Given the description of an element on the screen output the (x, y) to click on. 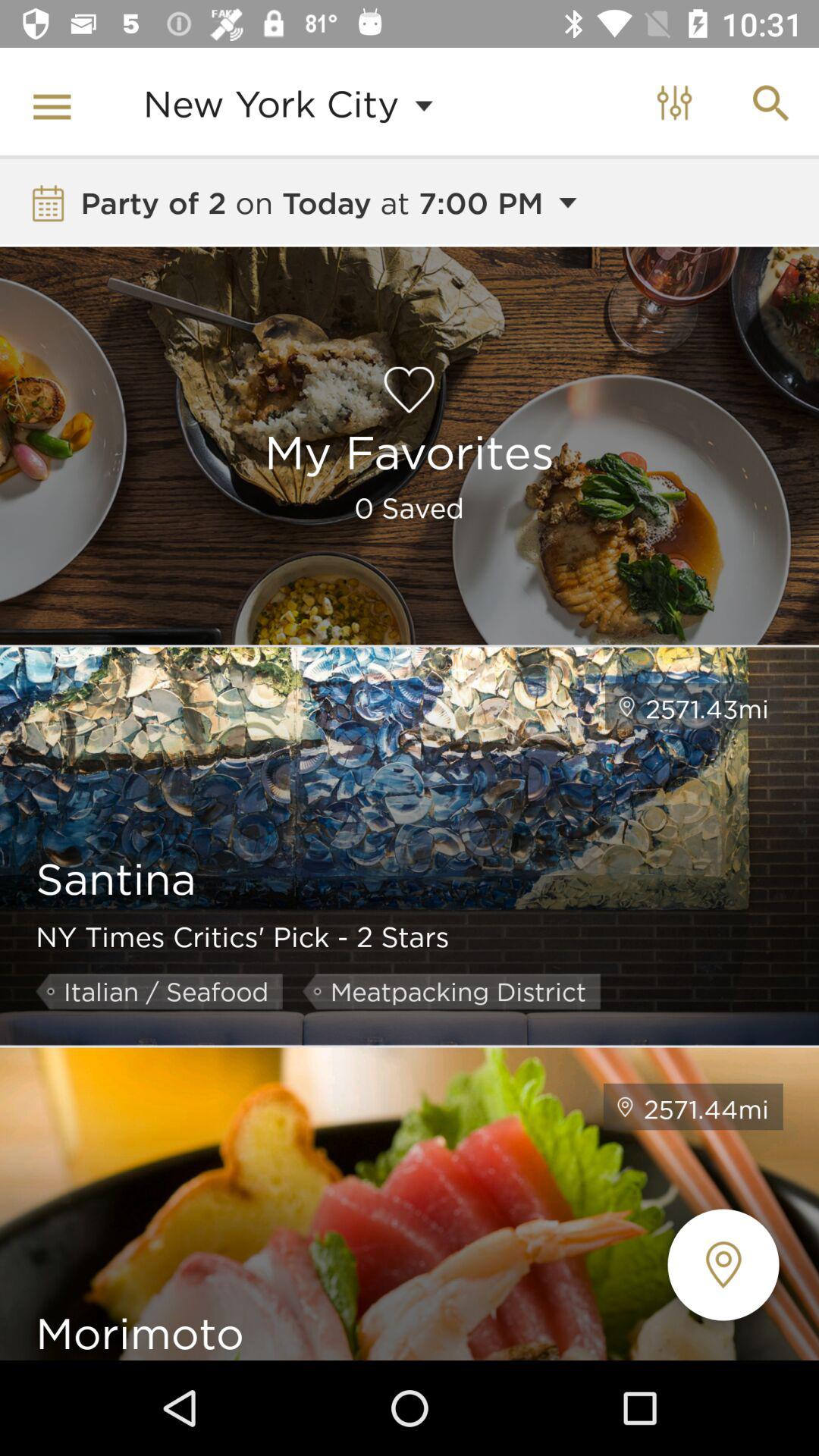
tap item to the left of the new york city item (55, 103)
